Given the description of an element on the screen output the (x, y) to click on. 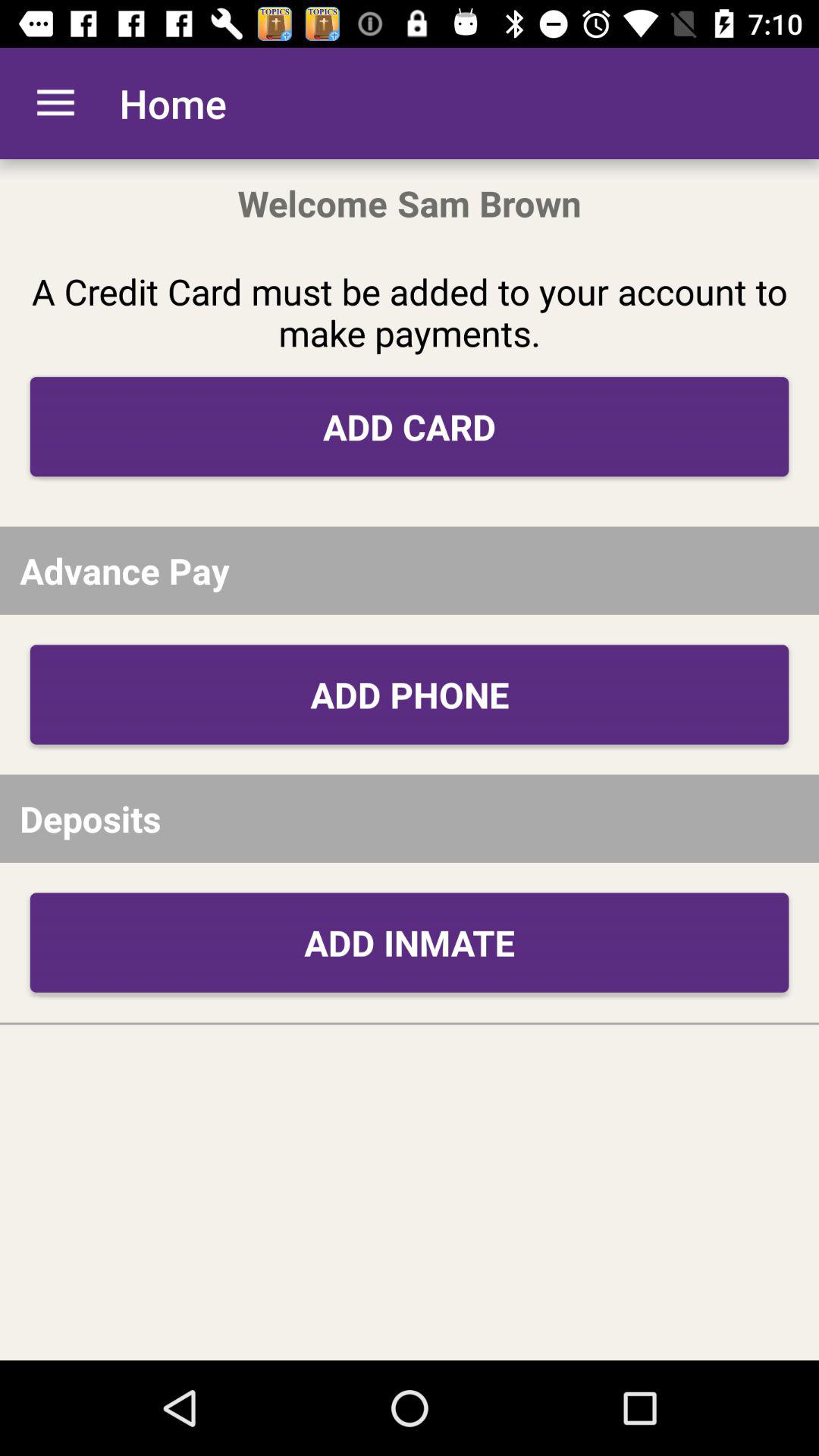
turn on add inmate (409, 942)
